Given the description of an element on the screen output the (x, y) to click on. 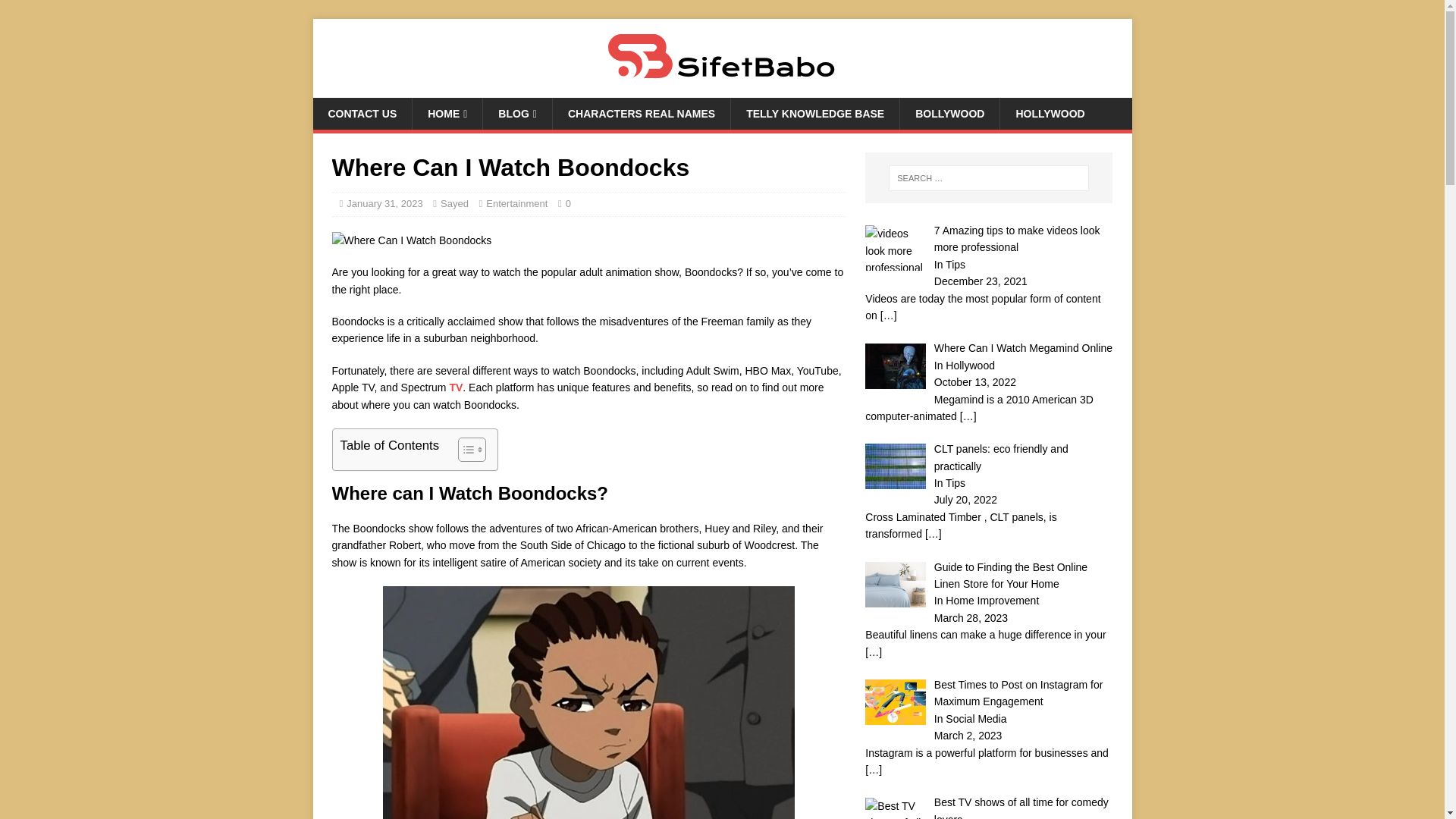
HOME (446, 113)
CONTACT US (362, 113)
Where Can I Watch Boondocks (411, 239)
BLOG (516, 113)
